Given the description of an element on the screen output the (x, y) to click on. 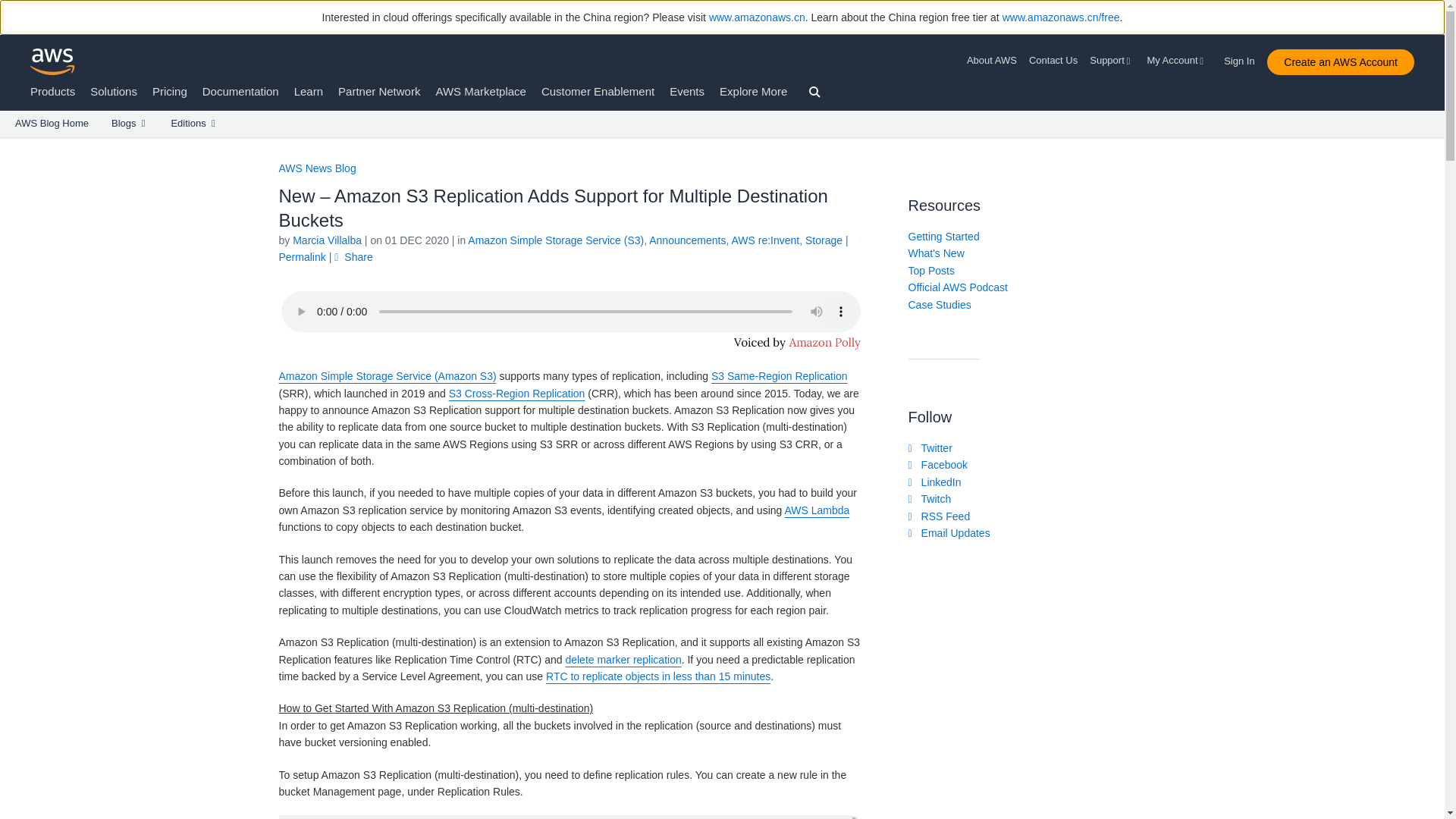
Documentation (240, 91)
View all posts in AWS re:Invent (764, 240)
Learn (308, 91)
Pricing (169, 91)
Sign In (1243, 58)
Contact Us (1053, 60)
View all posts in Storage (824, 240)
Click here to return to Amazon Web Services homepage (52, 61)
My Account  (1177, 60)
Products (52, 91)
About AWS (994, 60)
www.amazonaws.cn (757, 17)
Support  (1111, 60)
Posts by Marcia Villalba (326, 240)
Solutions (113, 91)
